Given the description of an element on the screen output the (x, y) to click on. 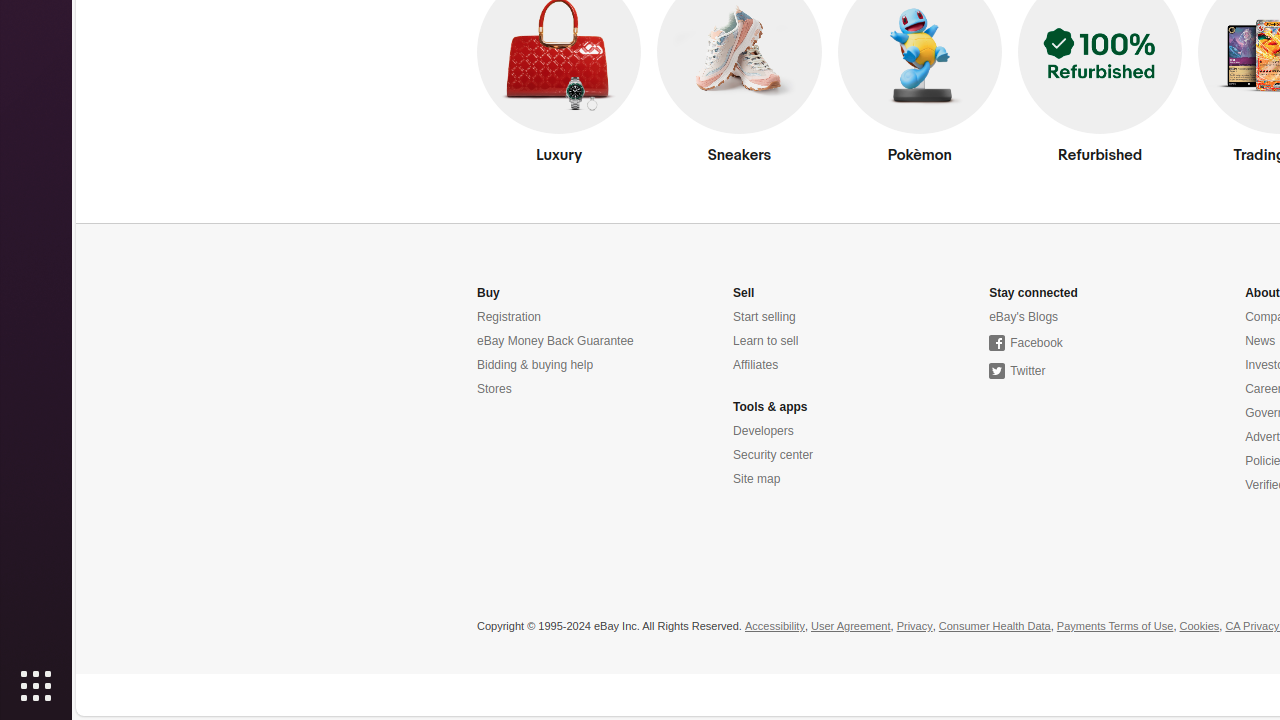
Cookies Element type: link (1199, 627)
eBay's Blogs Element type: link (1024, 317)
Consumer Health Data Element type: link (994, 627)
Bidding & buying help Element type: link (535, 365)
Learn to sell Element type: link (766, 341)
